Given the description of an element on the screen output the (x, y) to click on. 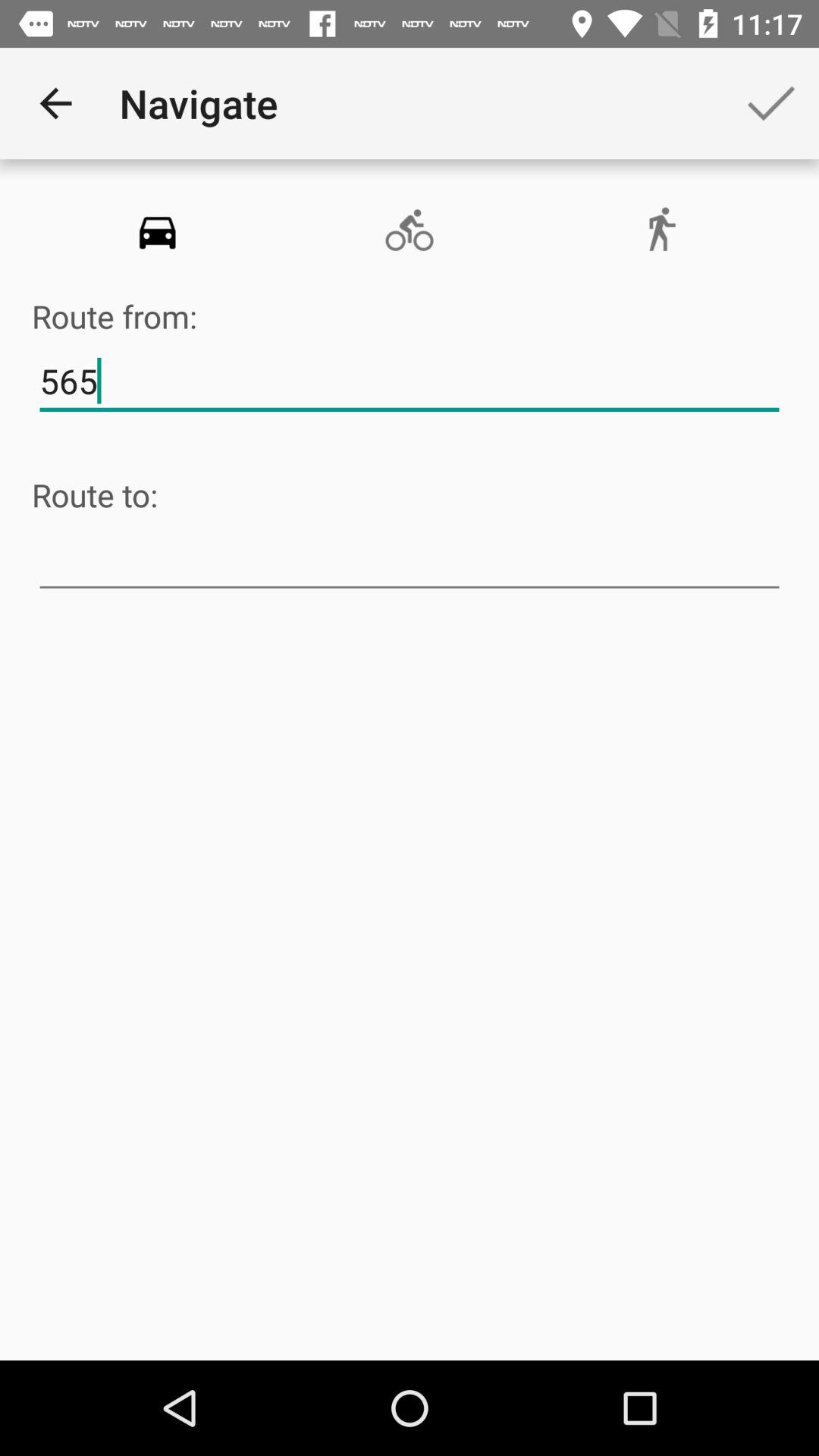
turn off icon to the left of the navigate (55, 103)
